Given the description of an element on the screen output the (x, y) to click on. 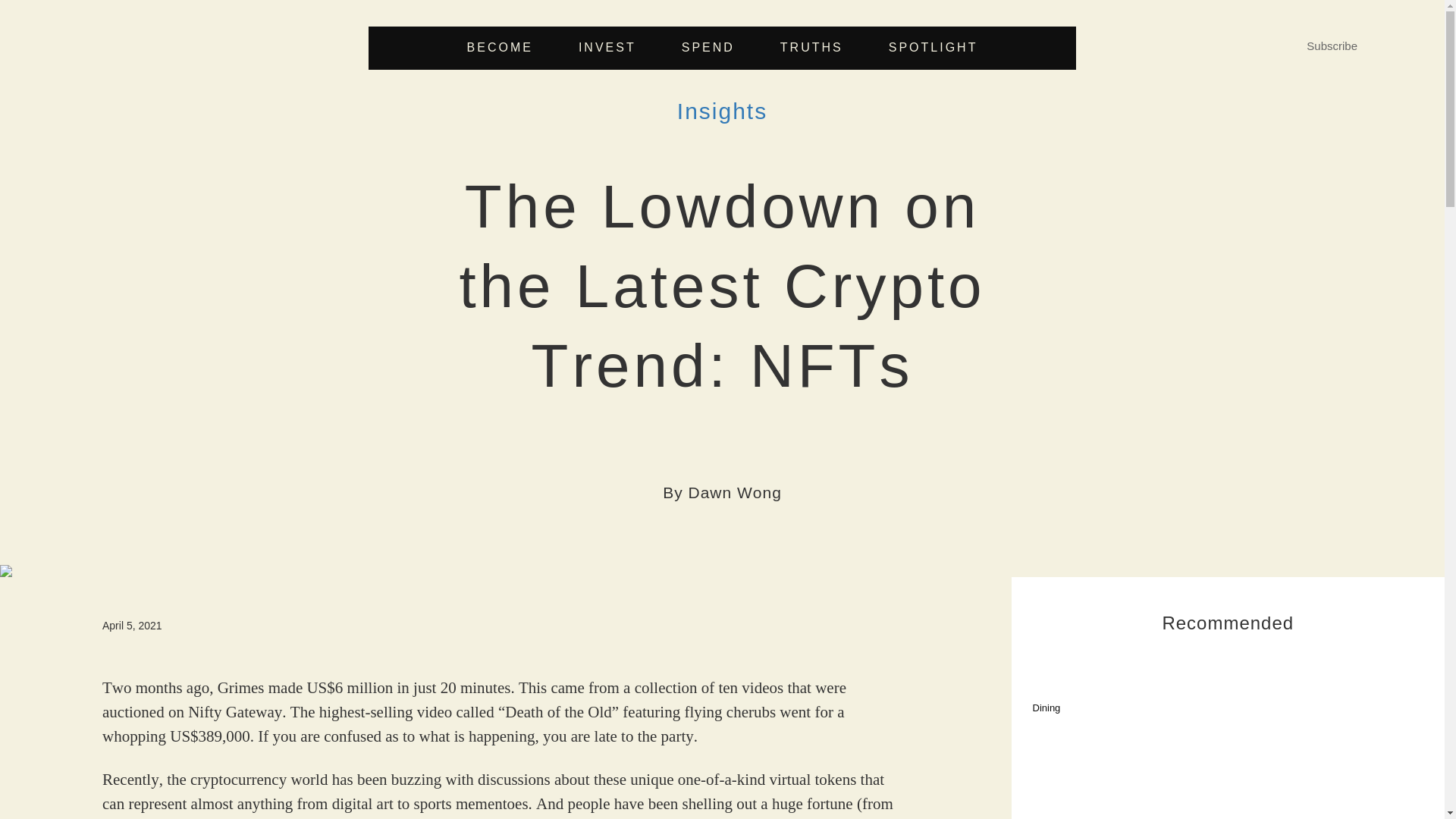
BECOME (500, 48)
Search (861, 406)
Subscribe (1331, 45)
INVEST (606, 48)
